Given the description of an element on the screen output the (x, y) to click on. 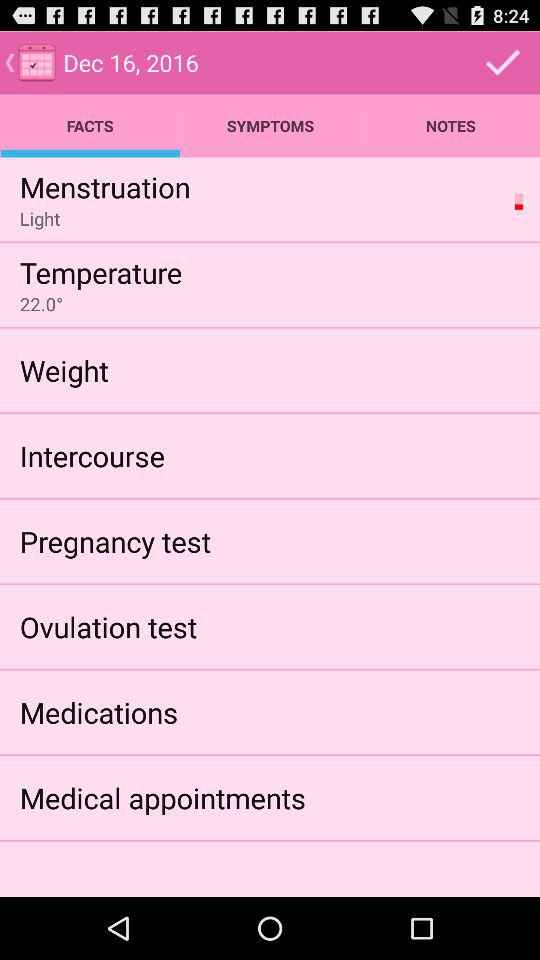
select the temperature icon (100, 272)
